Given the description of an element on the screen output the (x, y) to click on. 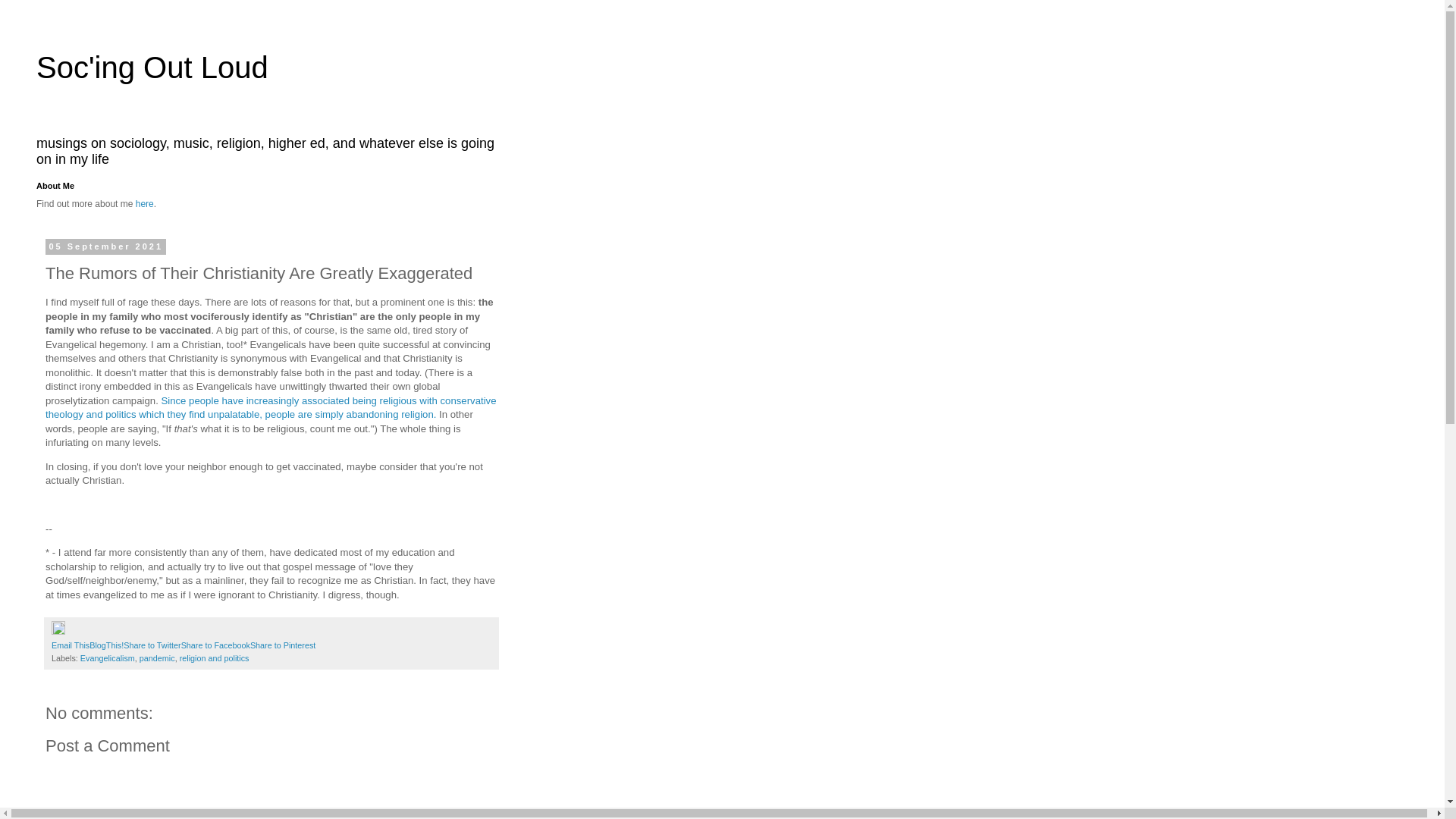
BlogThis! (105, 645)
here (144, 204)
Share to Pinterest (282, 645)
BlogThis! (105, 645)
Share to Pinterest (282, 645)
Soc'ing Out Loud (151, 67)
Edit Post (57, 631)
Email This (69, 645)
Share to Facebook (215, 645)
Share to Twitter (151, 645)
Email This (69, 645)
Share to Twitter (151, 645)
Evangelicalism (107, 657)
Share to Facebook (215, 645)
